Given the description of an element on the screen output the (x, y) to click on. 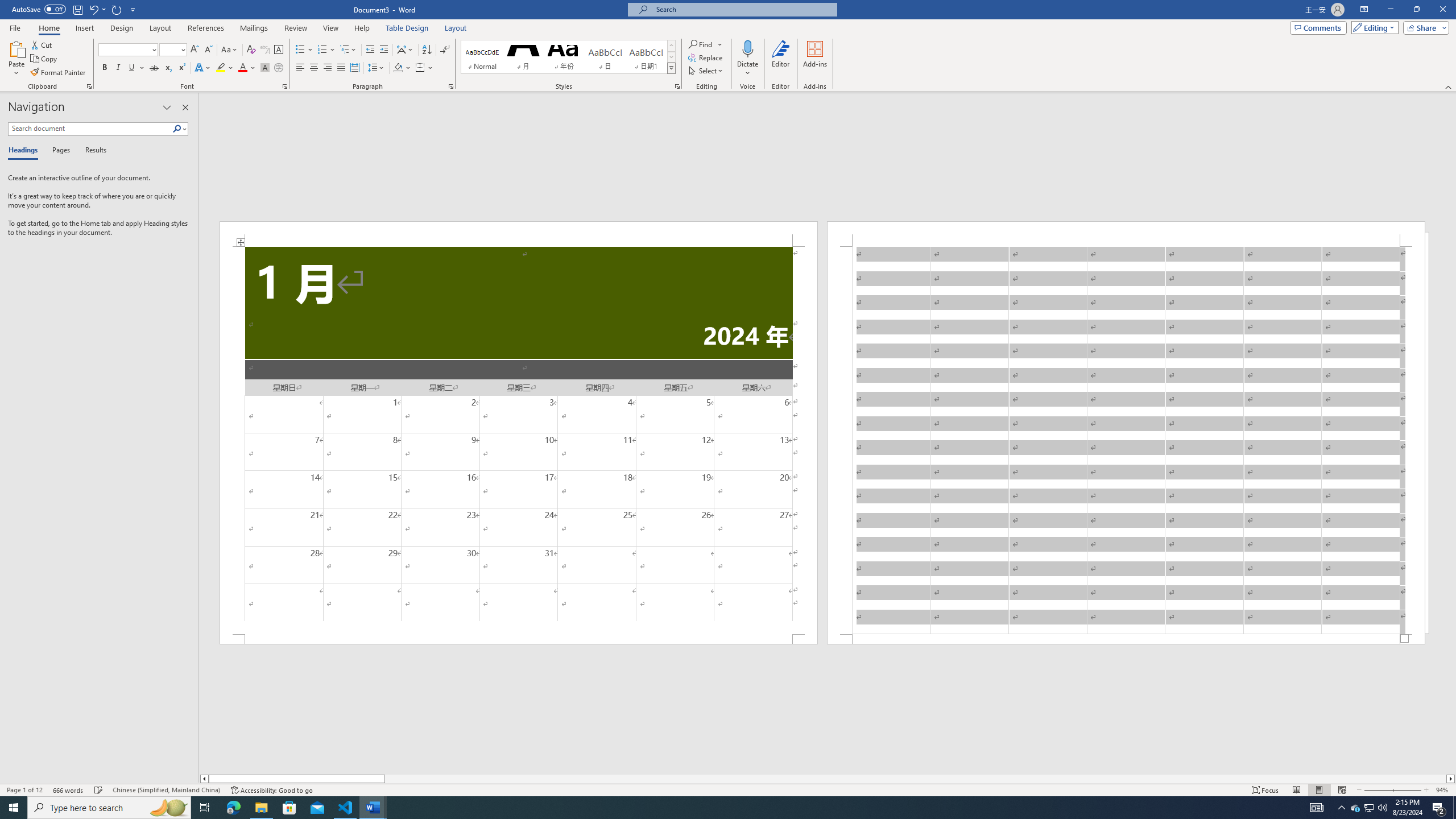
Row up (670, 45)
Editor (780, 58)
Phonetic Guide... (264, 49)
Font... (285, 85)
Table Design (407, 28)
Center (313, 67)
Change Case (229, 49)
Results (91, 150)
Bold (104, 67)
Insert (83, 28)
Format Painter (58, 72)
